Given the description of an element on the screen output the (x, y) to click on. 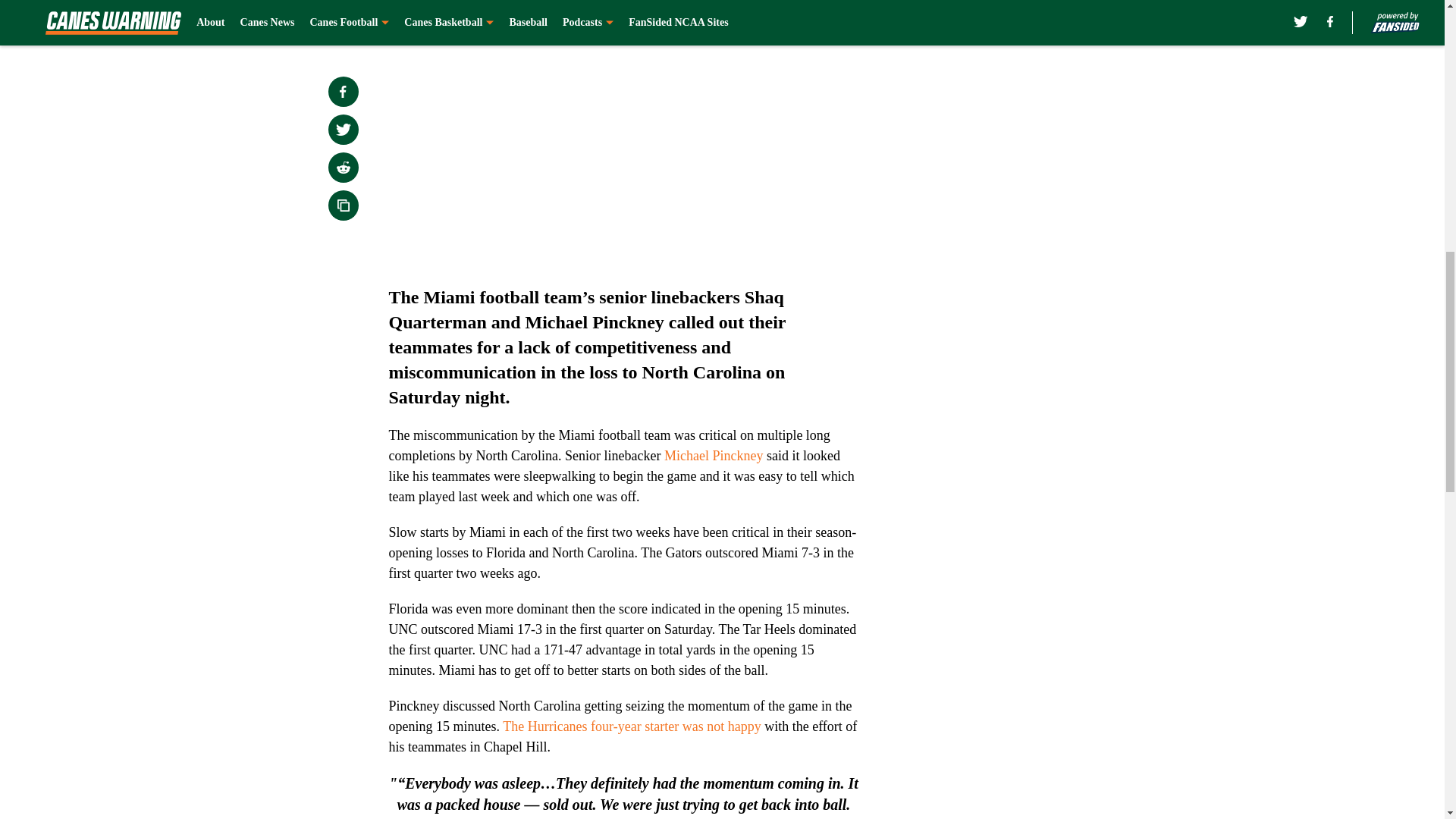
Michael Pinckney (712, 455)
The Hurricanes four-year starter was not happy (631, 726)
